Given the description of an element on the screen output the (x, y) to click on. 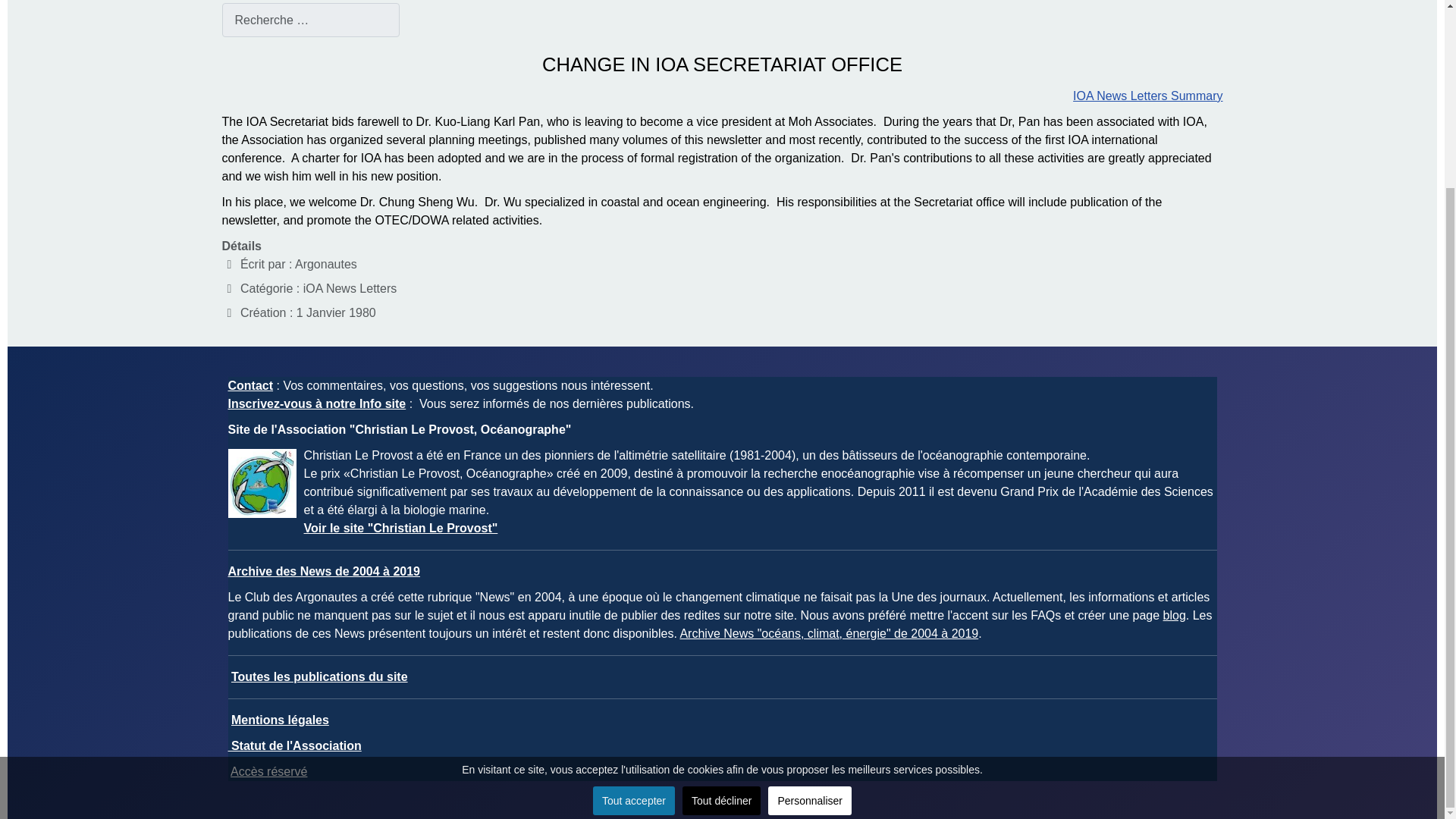
Voir le site "Christian Le Provost" (399, 527)
Personnaliser (809, 566)
Tout accepter (633, 566)
blog (1174, 615)
Toutes les publications du site (319, 676)
IOA News Letters Summary (1148, 95)
 Statut de l'Association (294, 745)
Contact (250, 385)
